Given the description of an element on the screen output the (x, y) to click on. 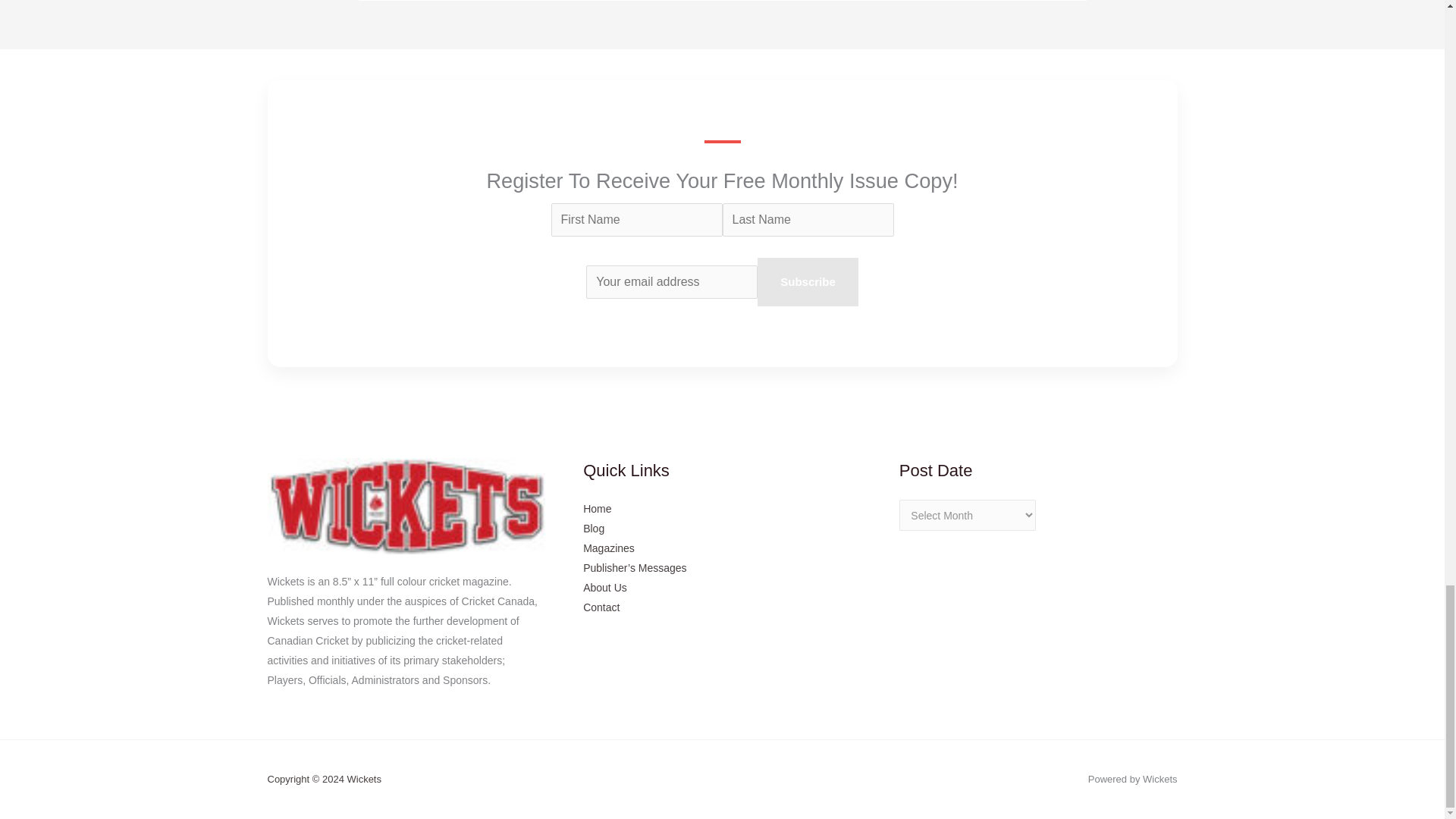
About Us (605, 587)
Contact (601, 607)
Blog (593, 528)
Subscribe (808, 281)
Magazines (608, 548)
Home (597, 508)
Subscribe (808, 281)
